Given the description of an element on the screen output the (x, y) to click on. 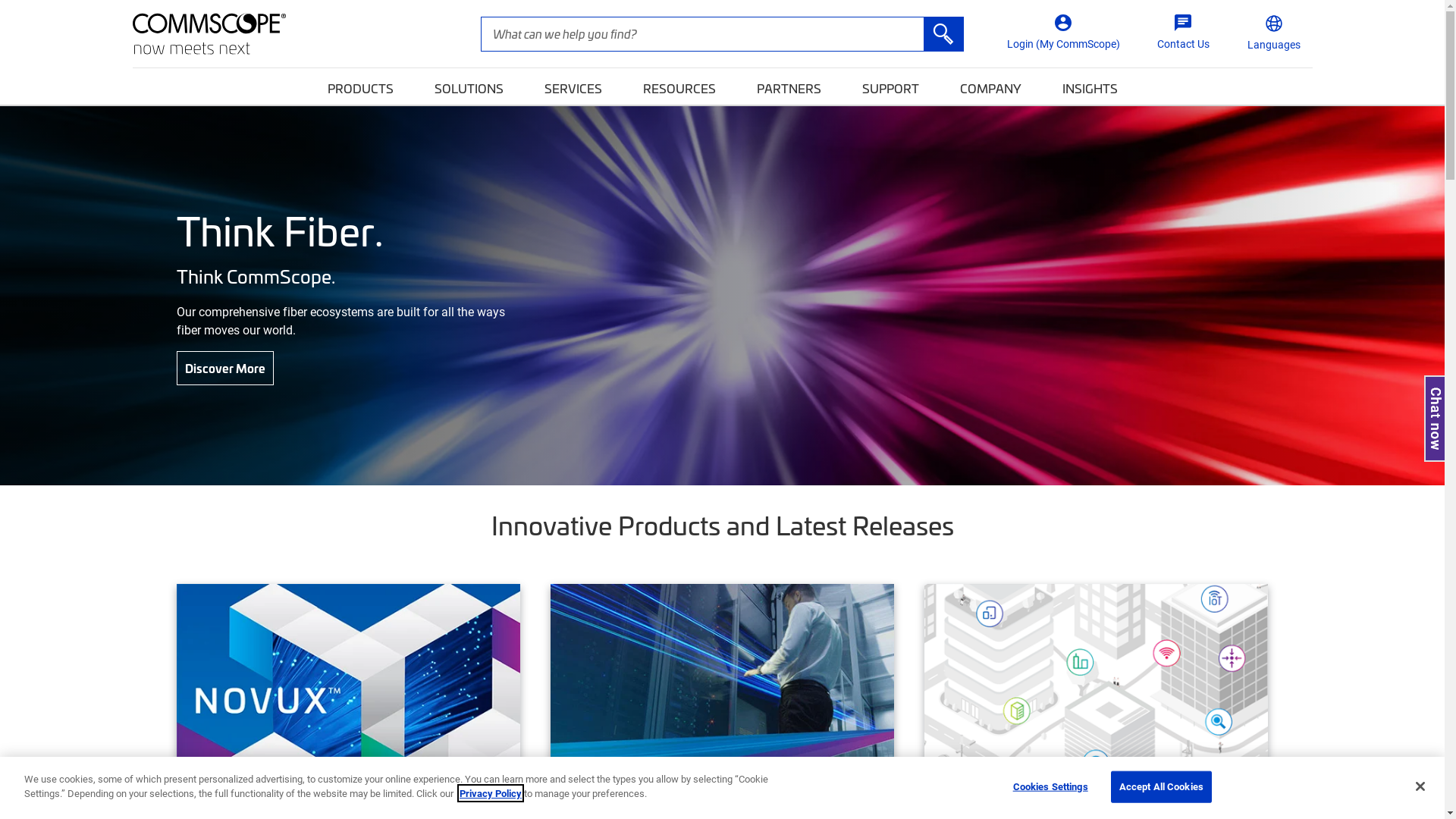
Languages Element type: text (1272, 33)
CommScope Element type: hover (208, 33)
Discover More Element type: text (224, 368)
Privacy Policy Element type: text (490, 793)
INSIGHTS Element type: text (1089, 86)
Cookies Settings Element type: text (1050, 786)
COMPANY Element type: text (990, 86)
Accept All Cookies Element type: text (1160, 787)
Contact Us Element type: text (1182, 33)
SOLUTIONS Element type: text (467, 86)
SUPPORT Element type: text (889, 86)
Login (My CommScope) Element type: text (1062, 33)
RESOURCES Element type: text (679, 86)
SERVICES Element type: text (573, 86)
PARTNERS Element type: text (788, 86)
PRODUCTS Element type: text (360, 86)
